Given the description of an element on the screen output the (x, y) to click on. 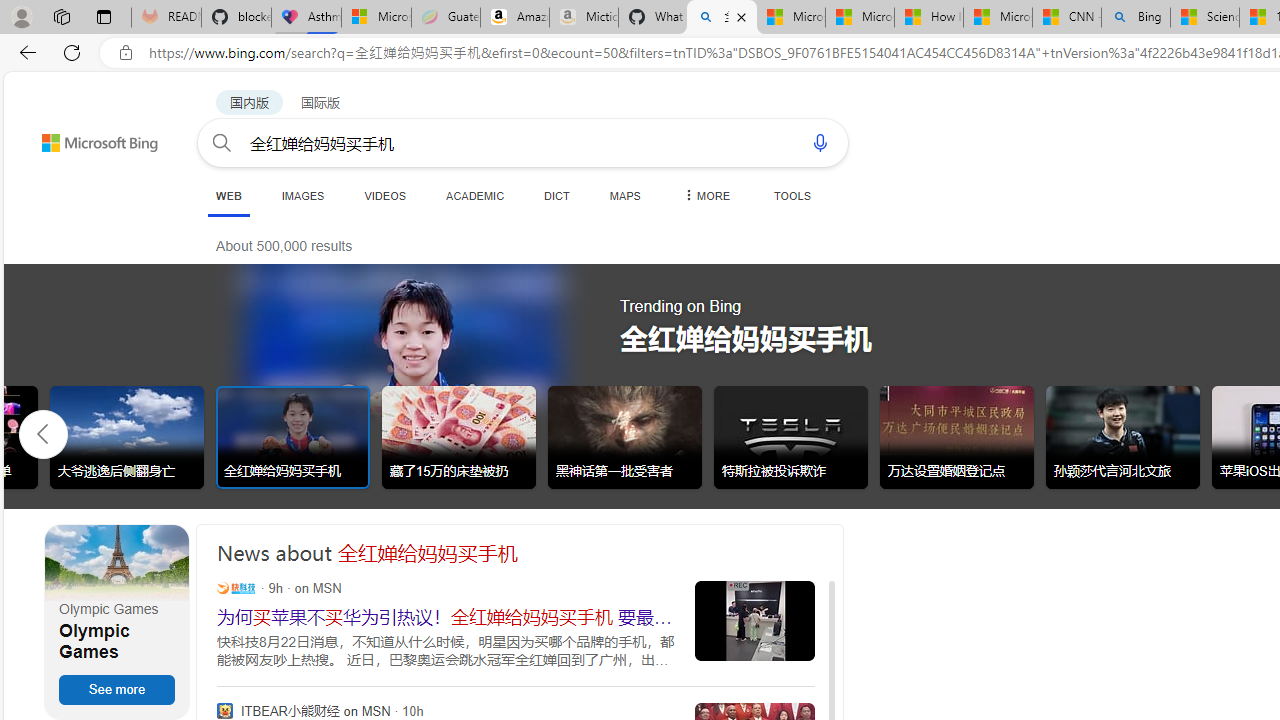
Bing (1135, 17)
Back to Bing search (87, 138)
AutomationID: tob_left_arrow (43, 433)
IMAGES (302, 195)
DICT (557, 195)
Asthma Inhalers: Names and Types (305, 17)
WEB (228, 196)
